Given the description of an element on the screen output the (x, y) to click on. 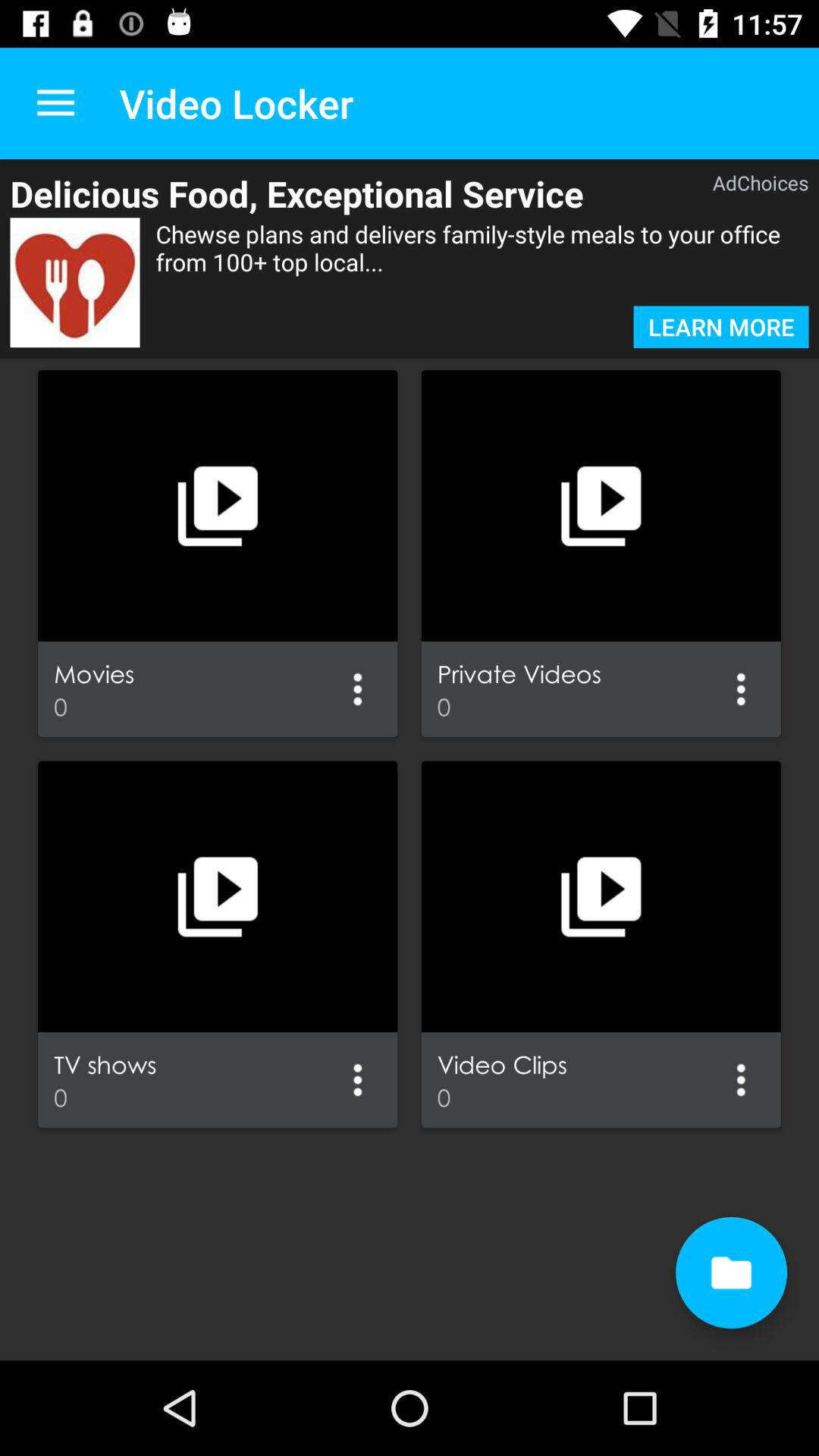
press the item below delicious food exceptional (481, 261)
